Given the description of an element on the screen output the (x, y) to click on. 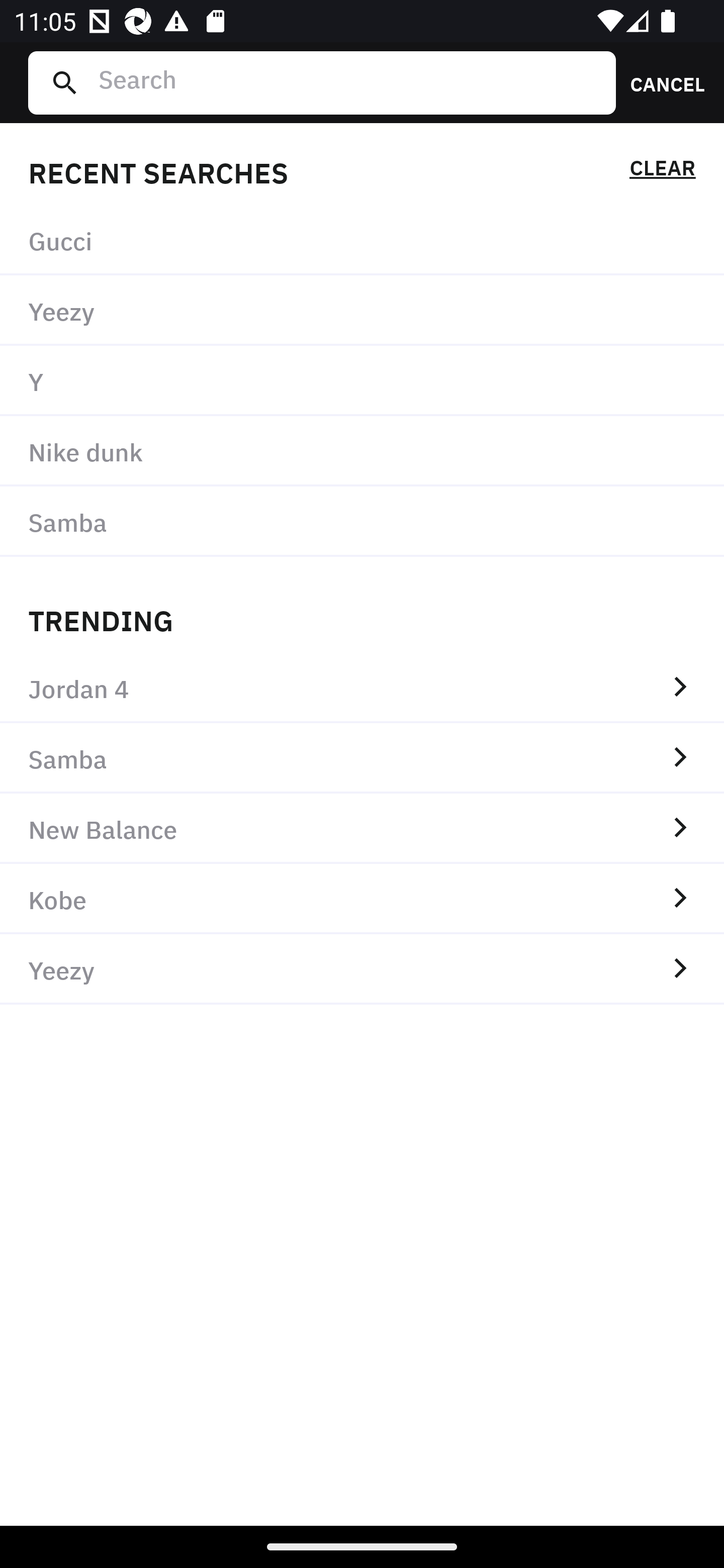
CANCEL (660, 82)
Search (349, 82)
CLEAR (662, 170)
Gucci (362, 240)
Yeezy (362, 310)
Y (362, 380)
Nike dunk (362, 450)
Samba (362, 521)
Jordan 4  (362, 687)
Samba  (362, 757)
New Balance  (362, 828)
Kobe  (362, 898)
Yeezy  (362, 969)
